Given the description of an element on the screen output the (x, y) to click on. 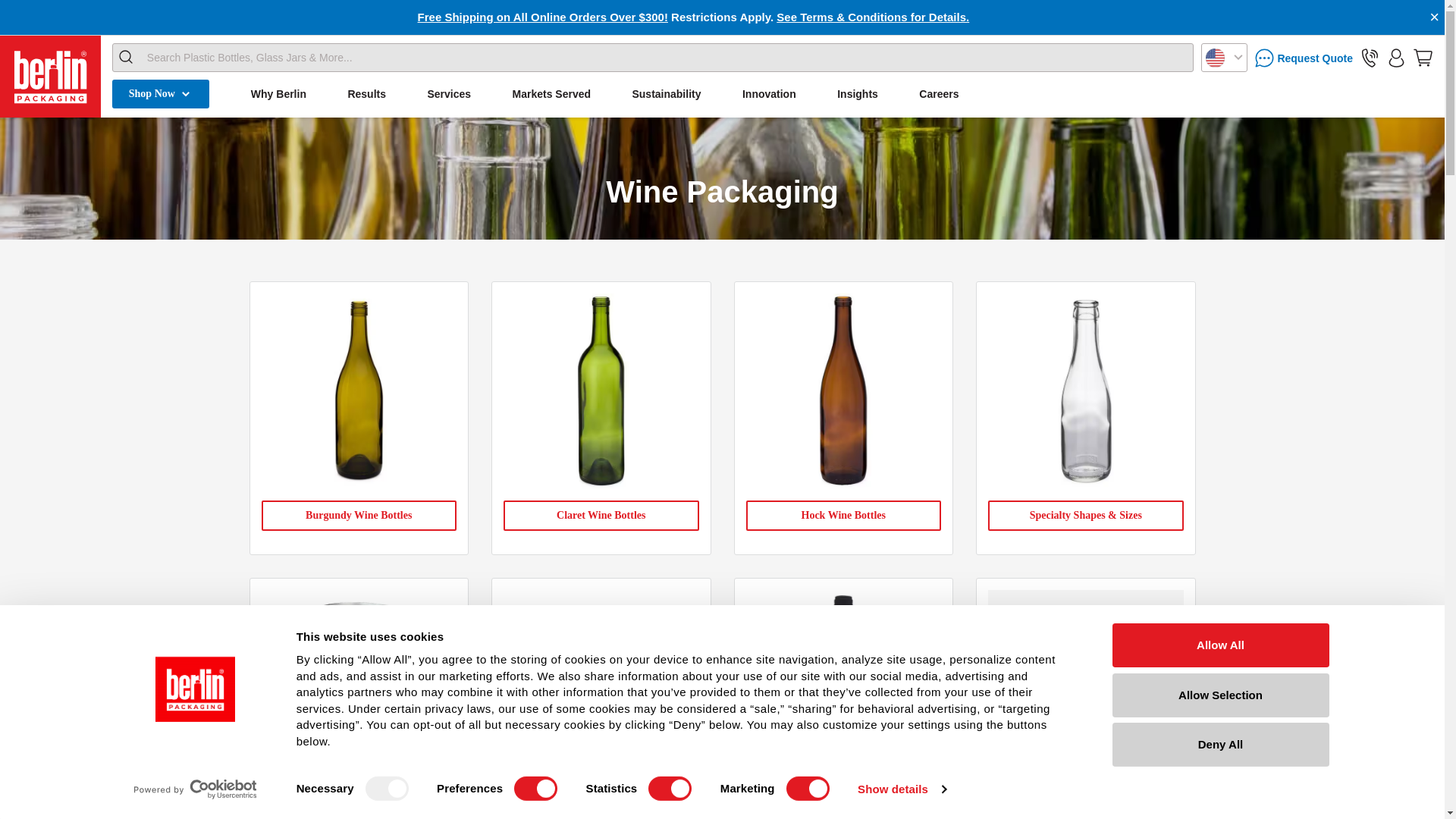
Show details (900, 789)
